Given the description of an element on the screen output the (x, y) to click on. 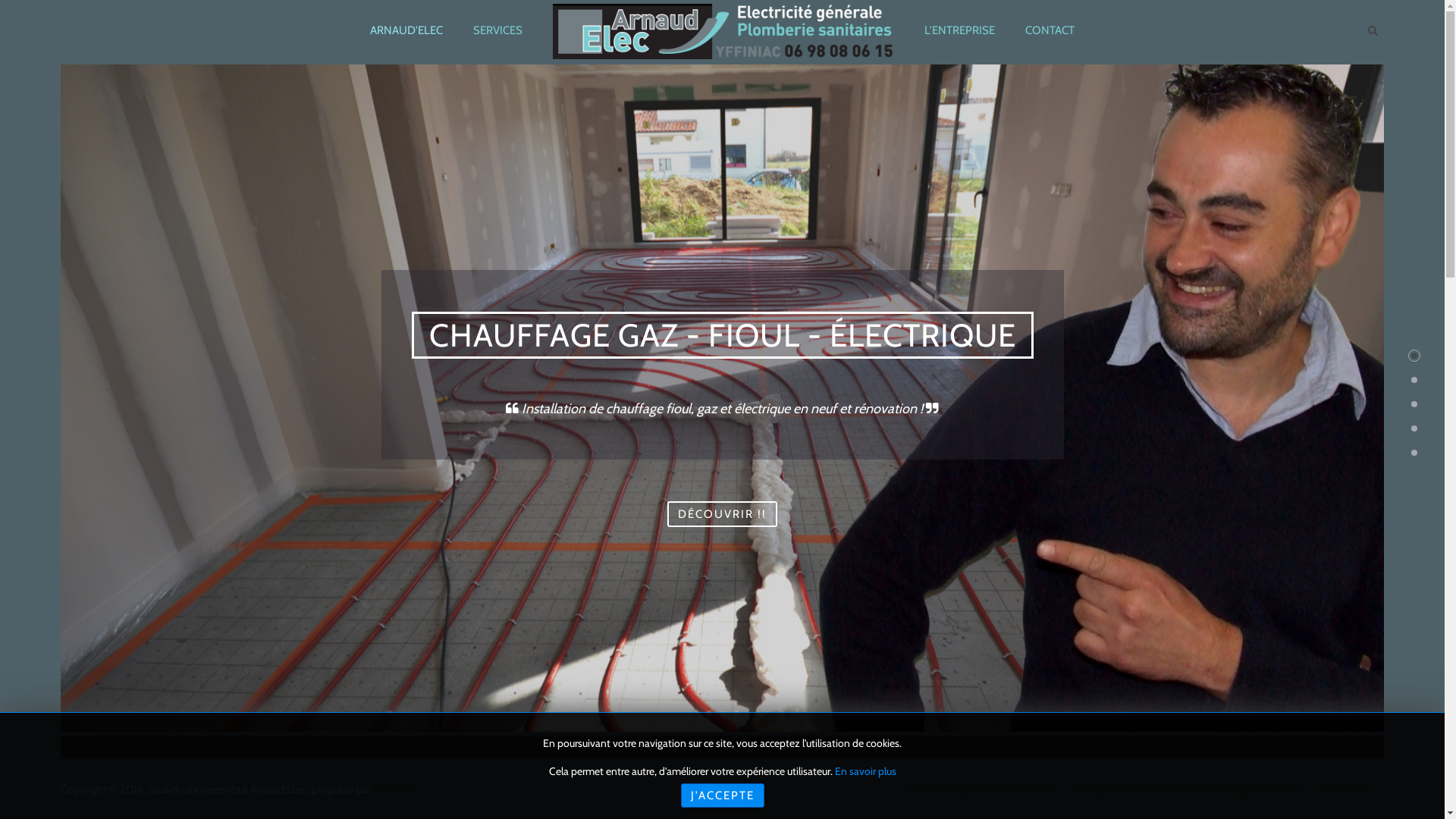
En savoir plus Element type: text (864, 771)
Plan de site Element type: text (1344, 789)
SERVICES Element type: text (497, 30)
Salle de bains / Plomberie / sanitaire Element type: text (708, 713)
ARNAUD'ELEC Element type: text (406, 30)
Skorweb Element type: text (394, 789)
CONTACT Element type: text (1049, 30)
L'ENTREPRISE Element type: text (959, 30)
